Given the description of an element on the screen output the (x, y) to click on. 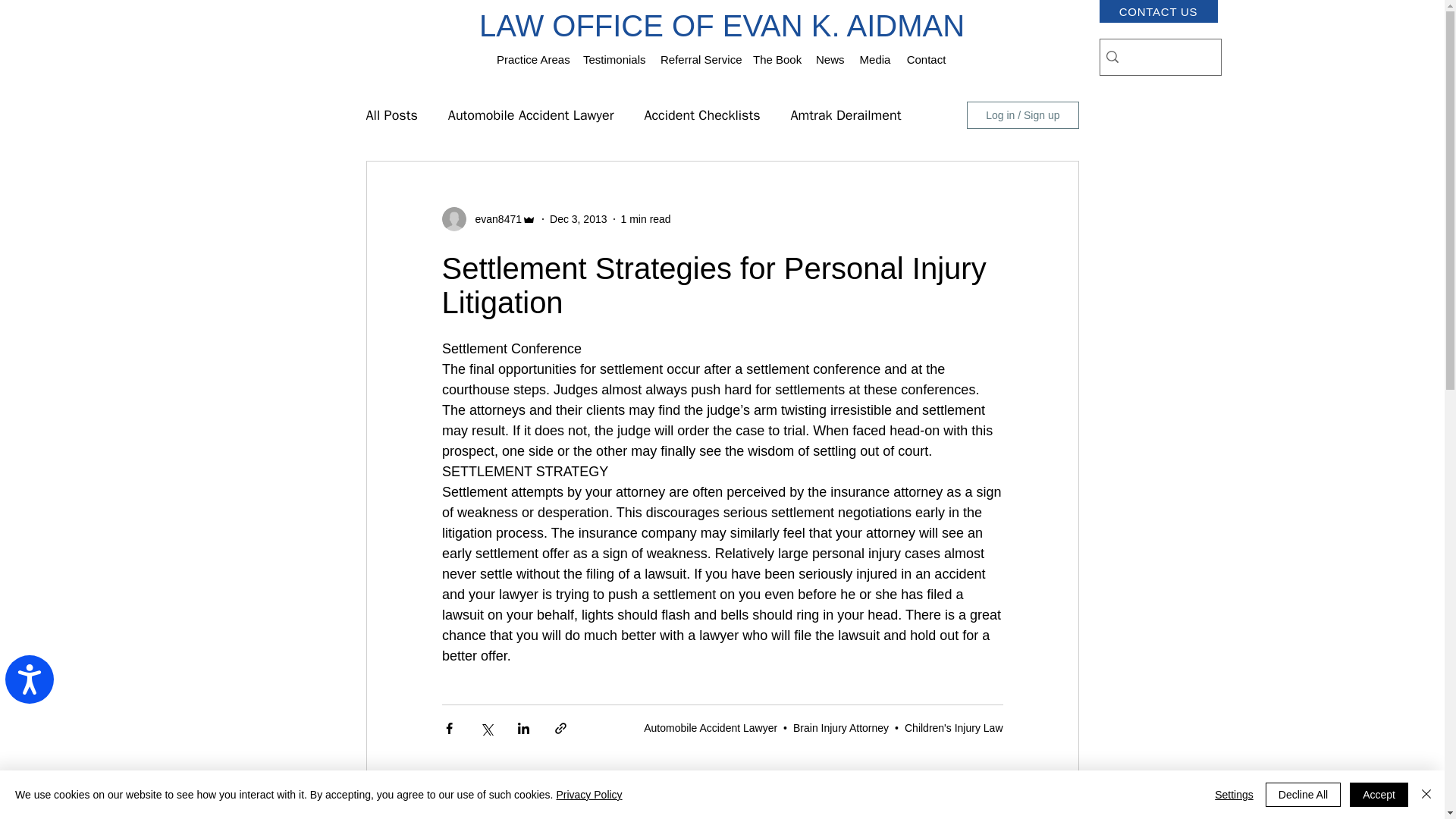
Accessibility (35, 685)
LAW OFFICE OF EVAN K. AIDMAN (721, 25)
Accident Checklists (701, 115)
Contact (925, 59)
News (829, 59)
Referral Service (698, 59)
Dec 3, 2013 (578, 218)
All Posts (390, 115)
The Book (776, 59)
Testimonials (613, 59)
